Given the description of an element on the screen output the (x, y) to click on. 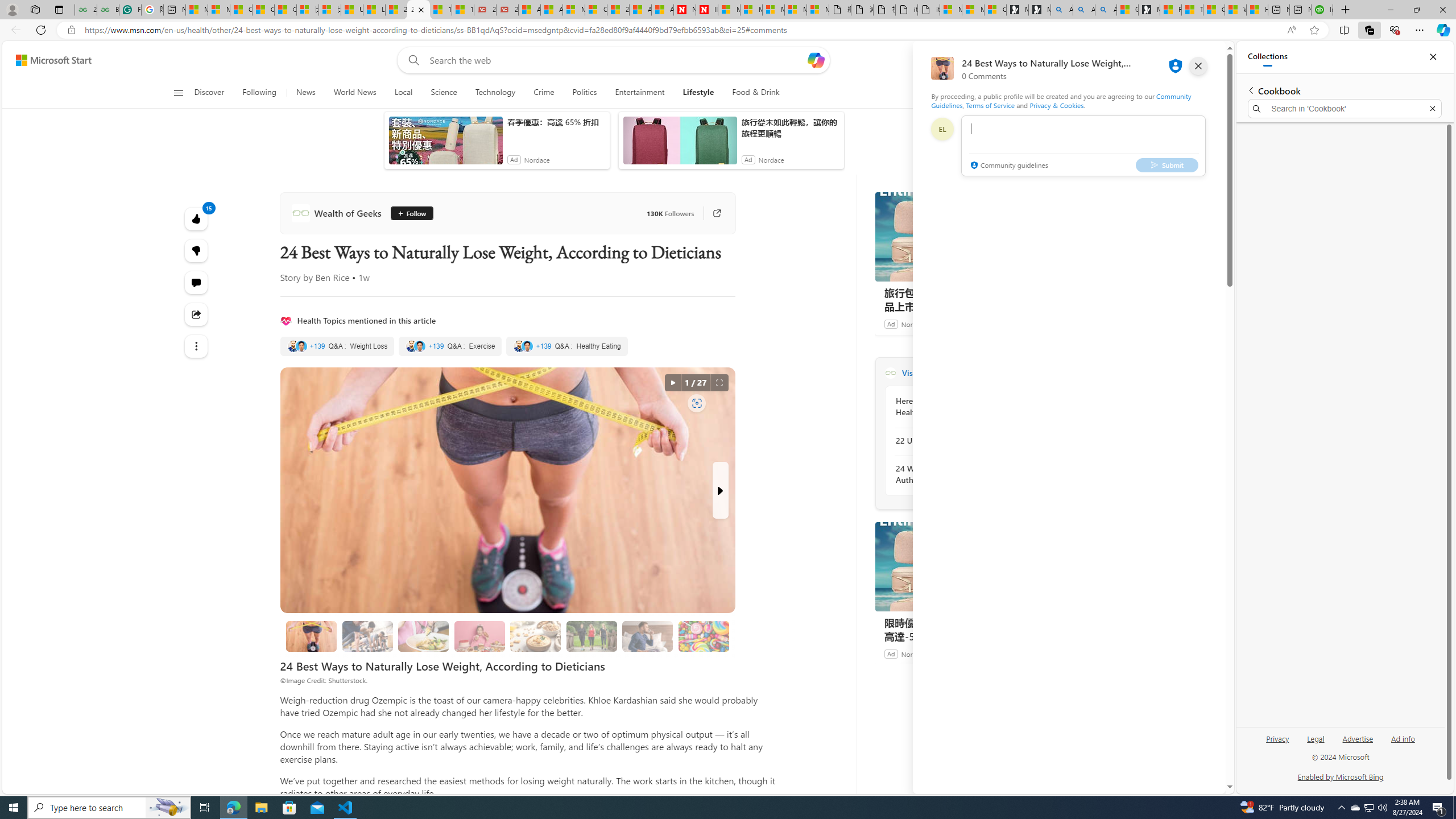
Cloud Computing Services | Microsoft Azure (595, 9)
3. Portion Control (479, 636)
Back to list of collections (1250, 90)
